Given the description of an element on the screen output the (x, y) to click on. 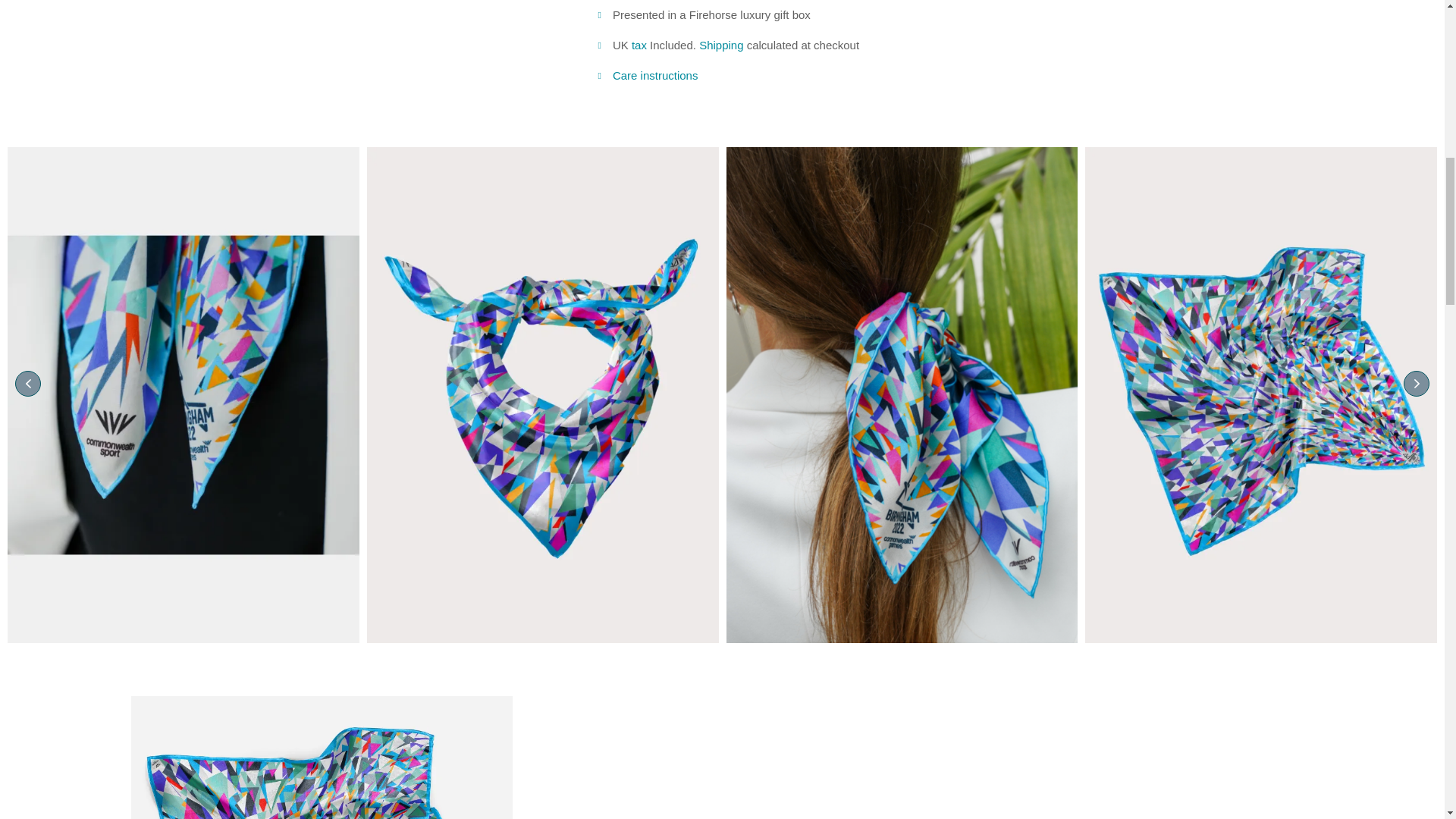
tax (638, 44)
Care instructions (655, 74)
Shipping (720, 44)
